Given the description of an element on the screen output the (x, y) to click on. 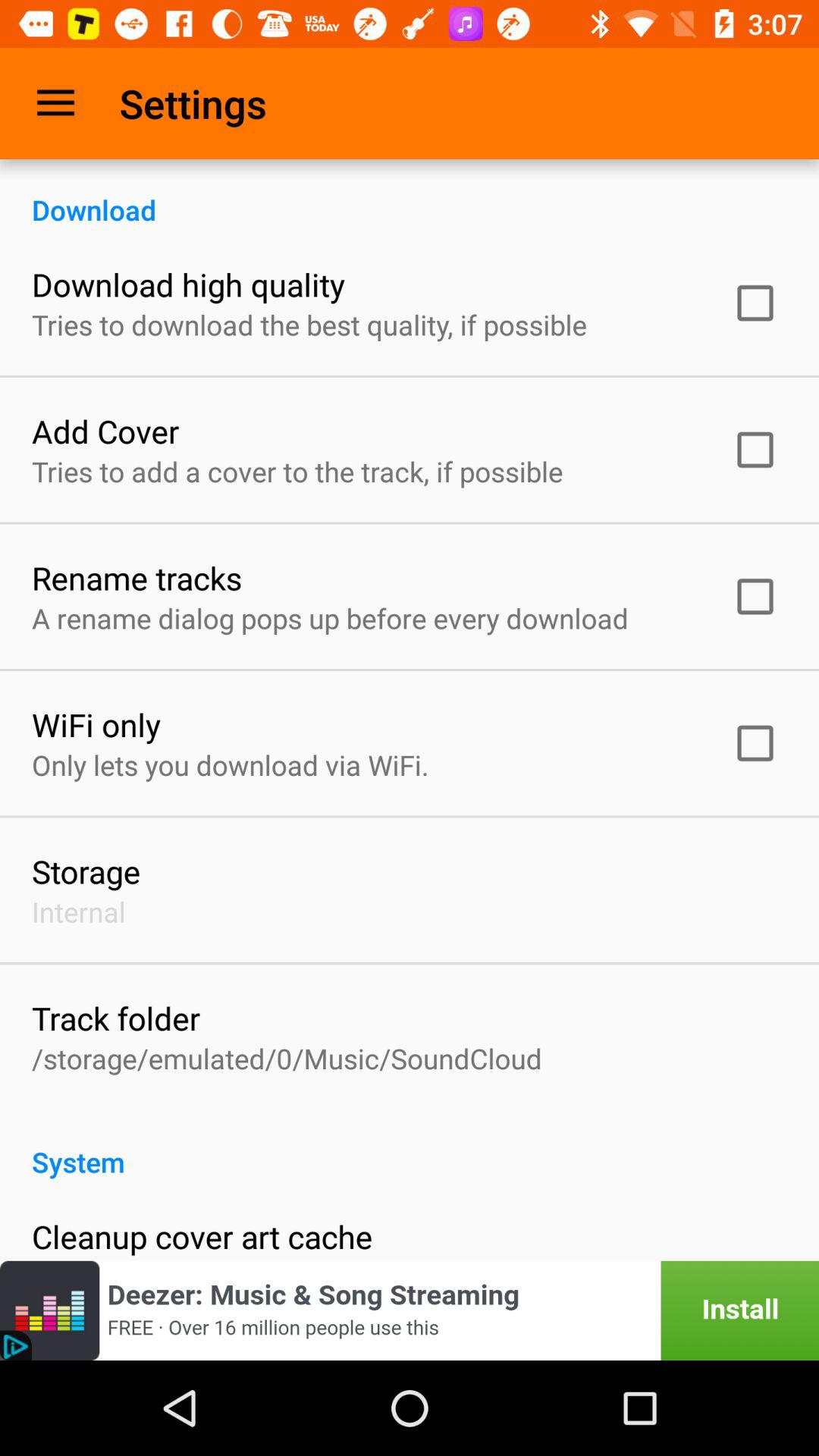
choose the rename tracks (136, 577)
